Given the description of an element on the screen output the (x, y) to click on. 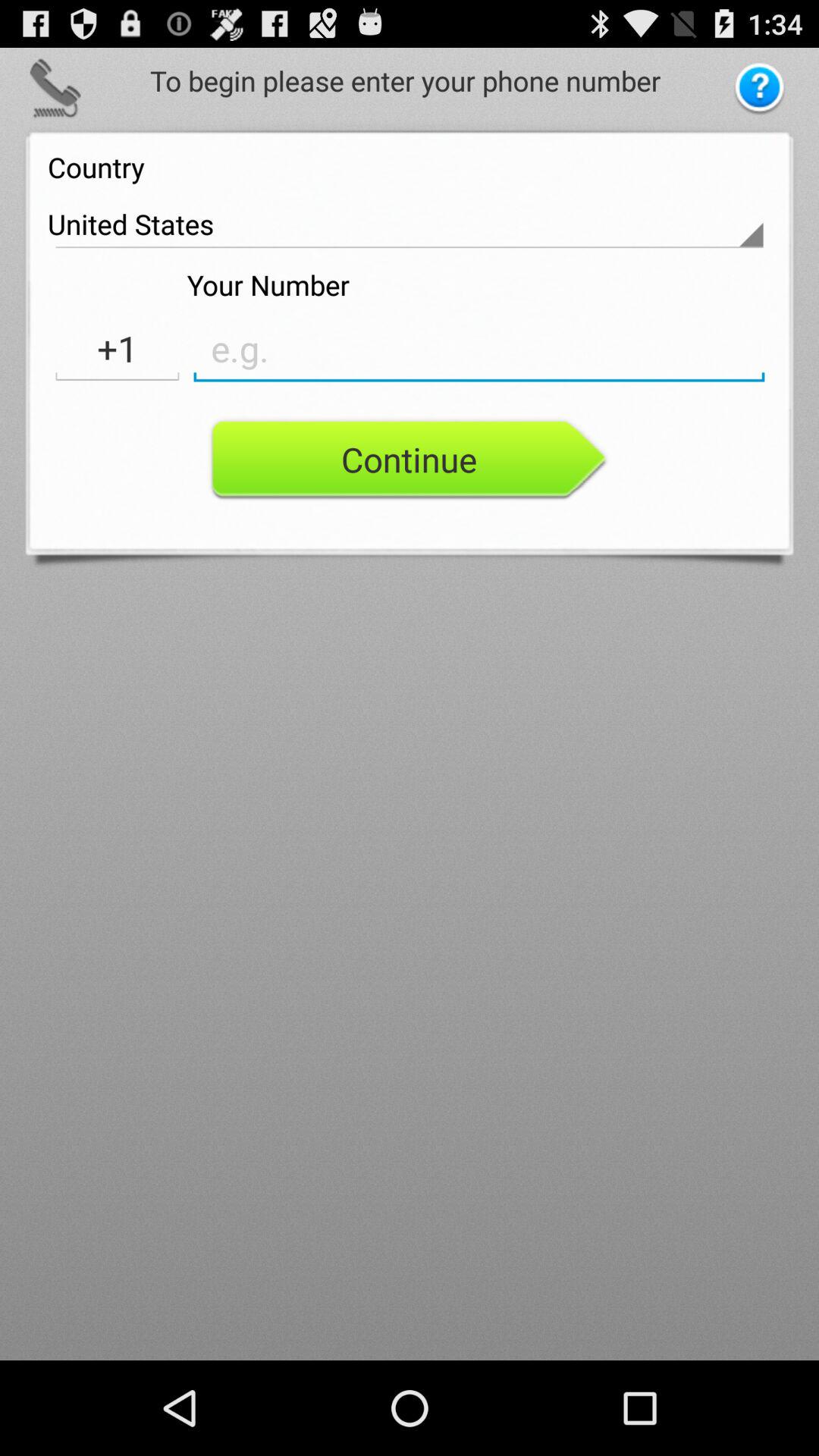
help button (759, 88)
